Given the description of an element on the screen output the (x, y) to click on. 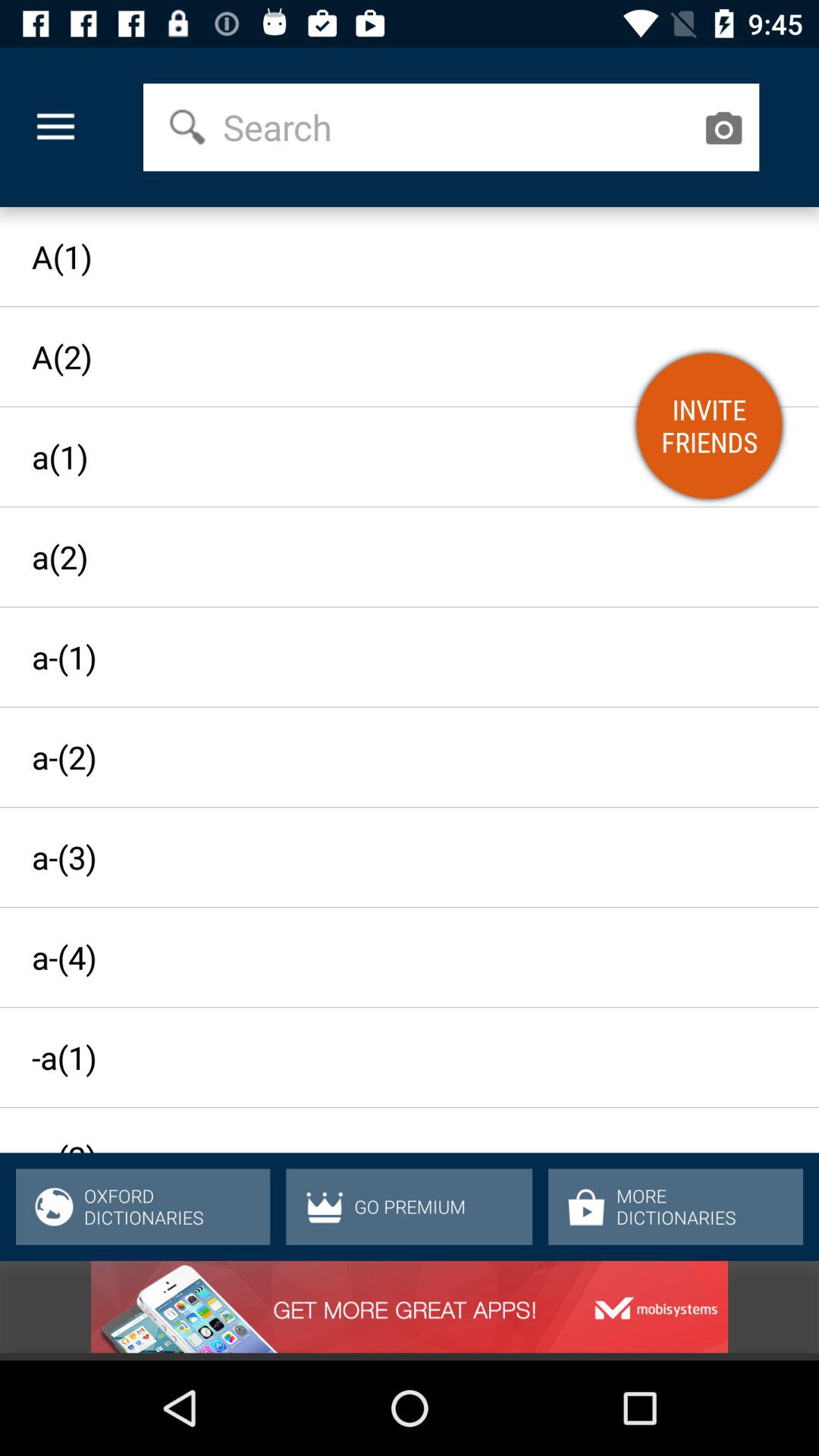
press the icon above a-(4) item (395, 857)
